Given the description of an element on the screen output the (x, y) to click on. 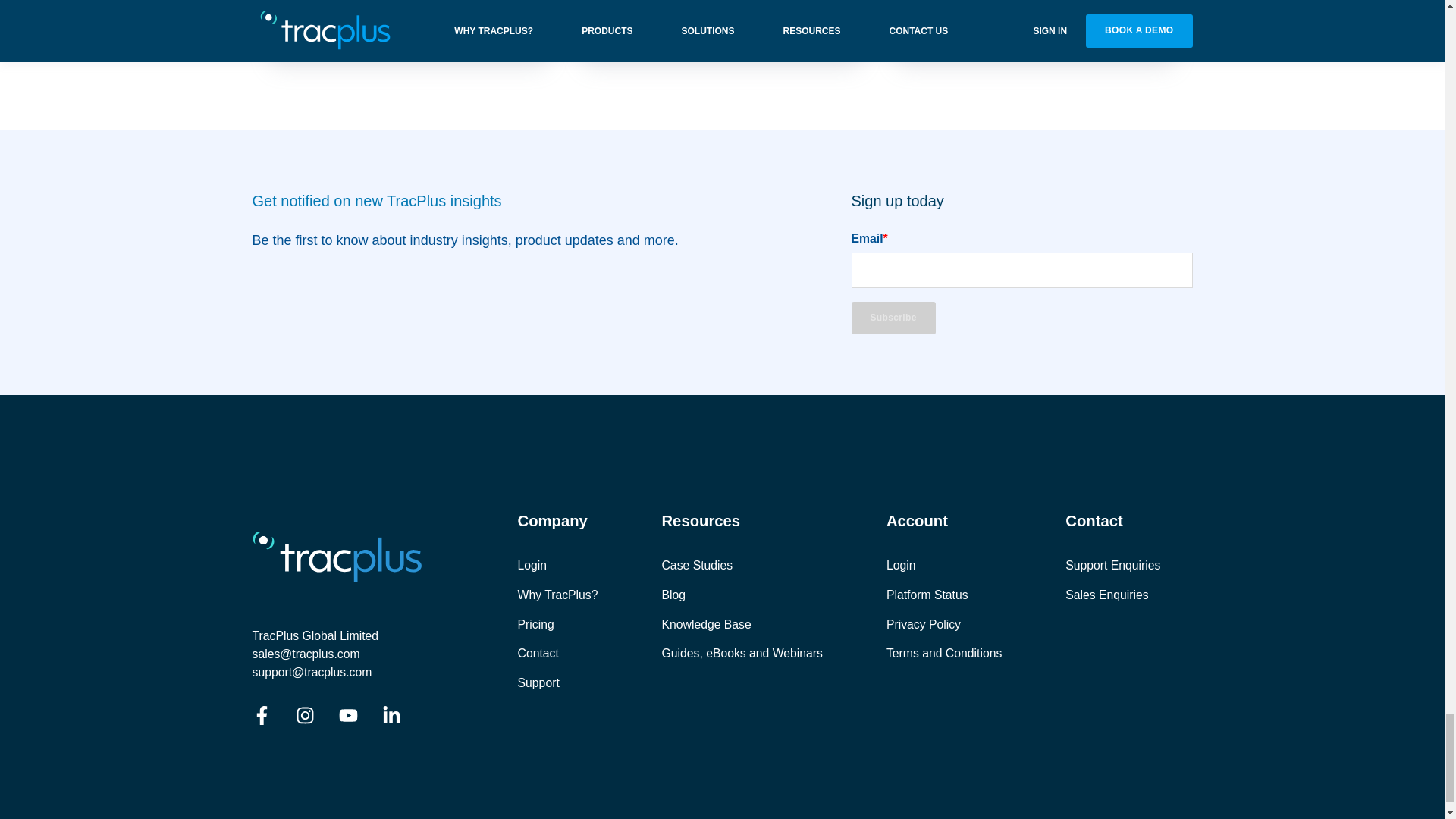
Subscribe (892, 318)
